Given the description of an element on the screen output the (x, y) to click on. 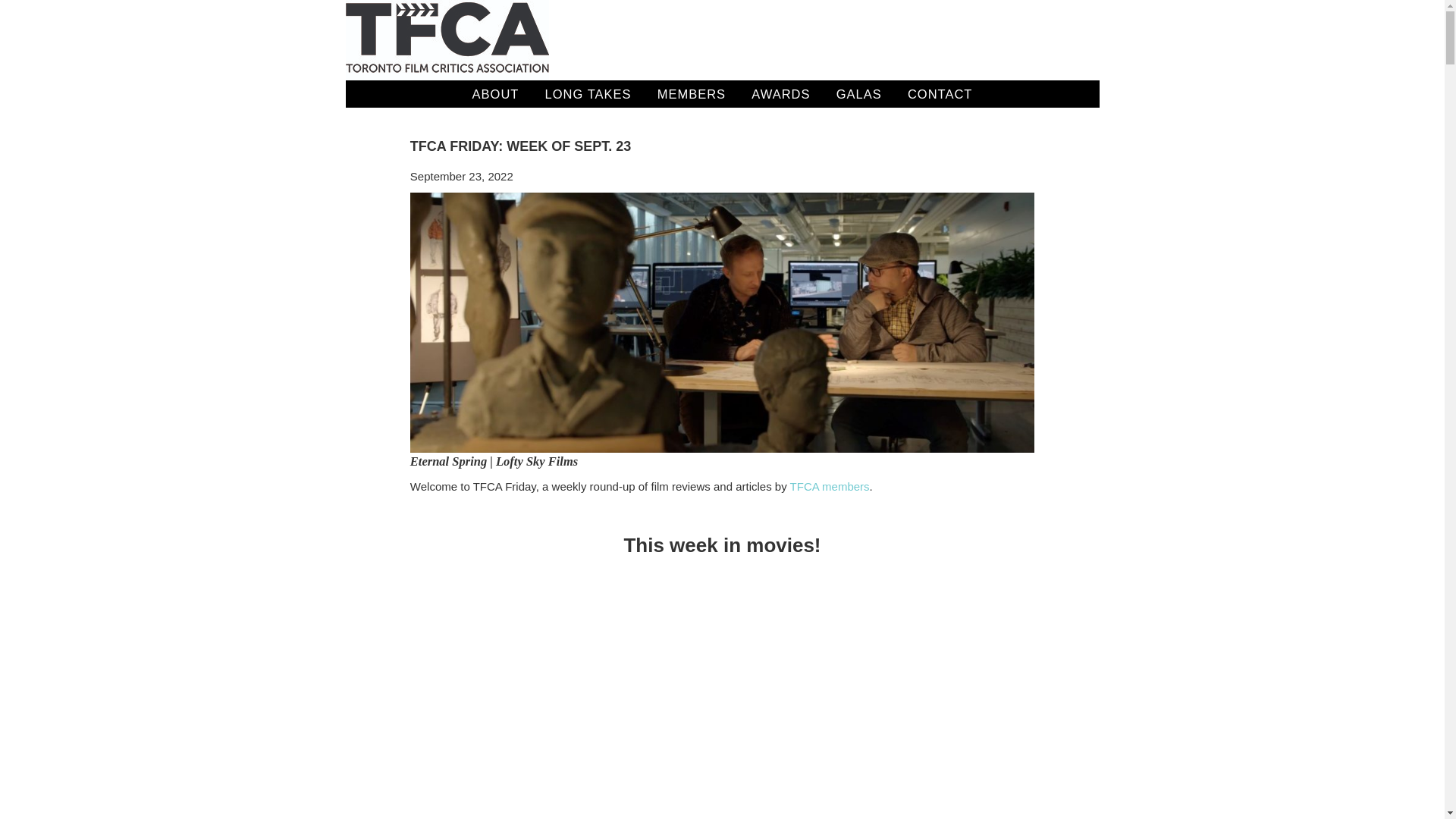
TFCA: TORONTO FILM CRITICS ASSOCIATION (447, 38)
MEMBERS (691, 93)
Long Takes (588, 93)
Members (691, 93)
About (496, 93)
ABOUT (496, 93)
LONG TAKES (588, 93)
